Given the description of an element on the screen output the (x, y) to click on. 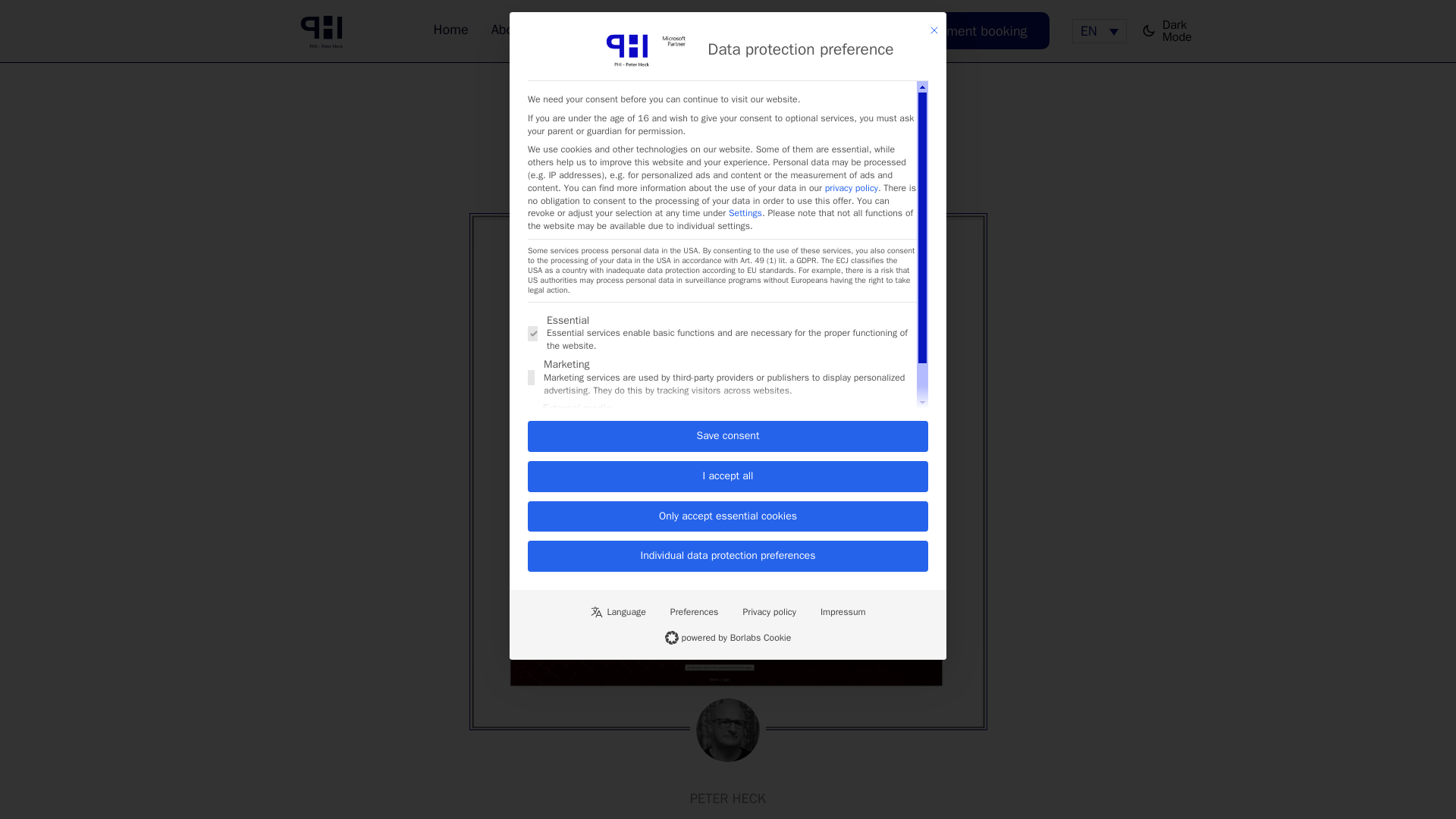
Services (595, 28)
EN (1098, 30)
Appointment booking (963, 30)
Contact us (788, 28)
Home (450, 28)
References (699, 28)
About (326, 30)
Dark Mode (508, 28)
